Given the description of an element on the screen output the (x, y) to click on. 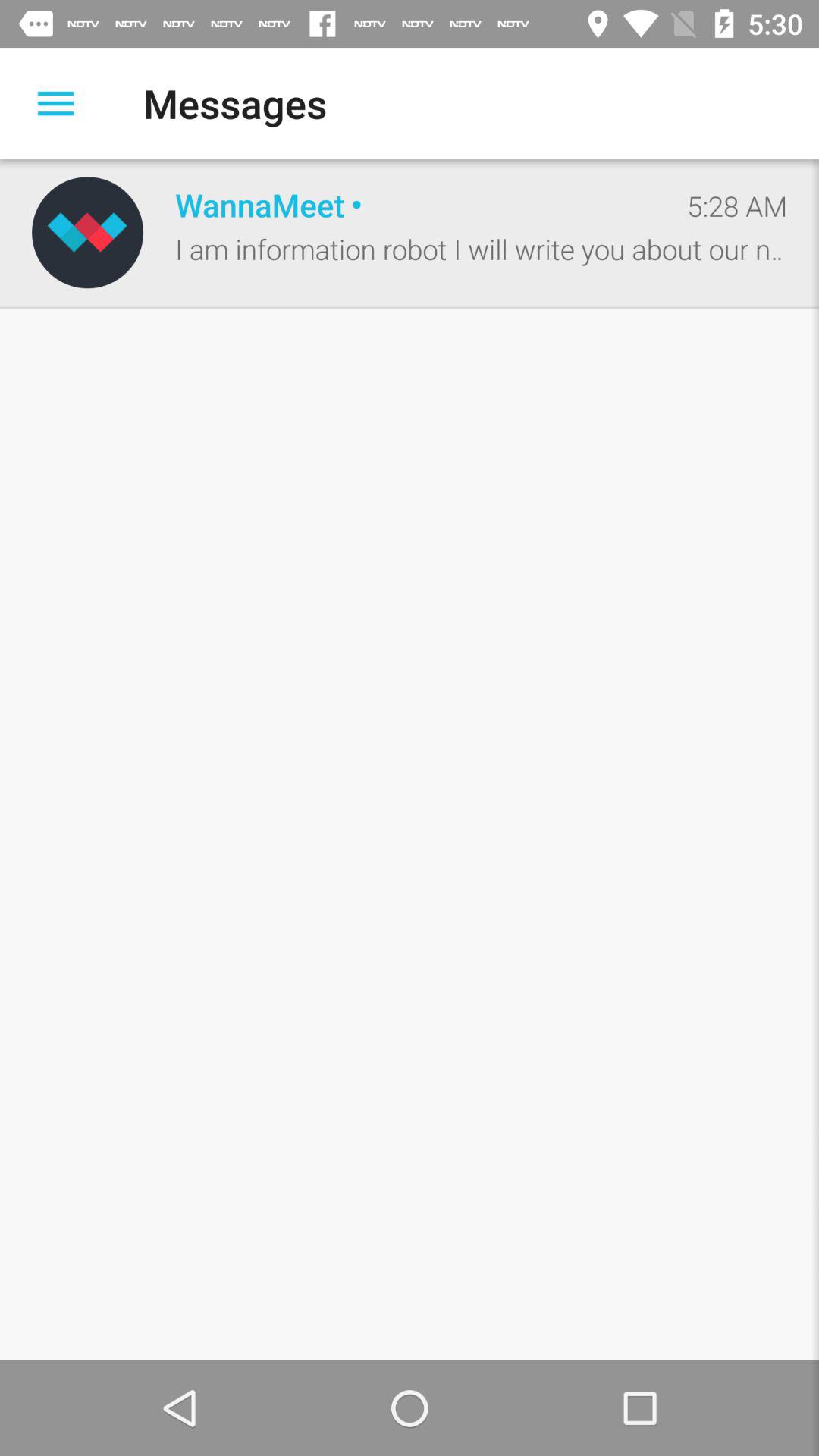
open menu (55, 103)
